Given the description of an element on the screen output the (x, y) to click on. 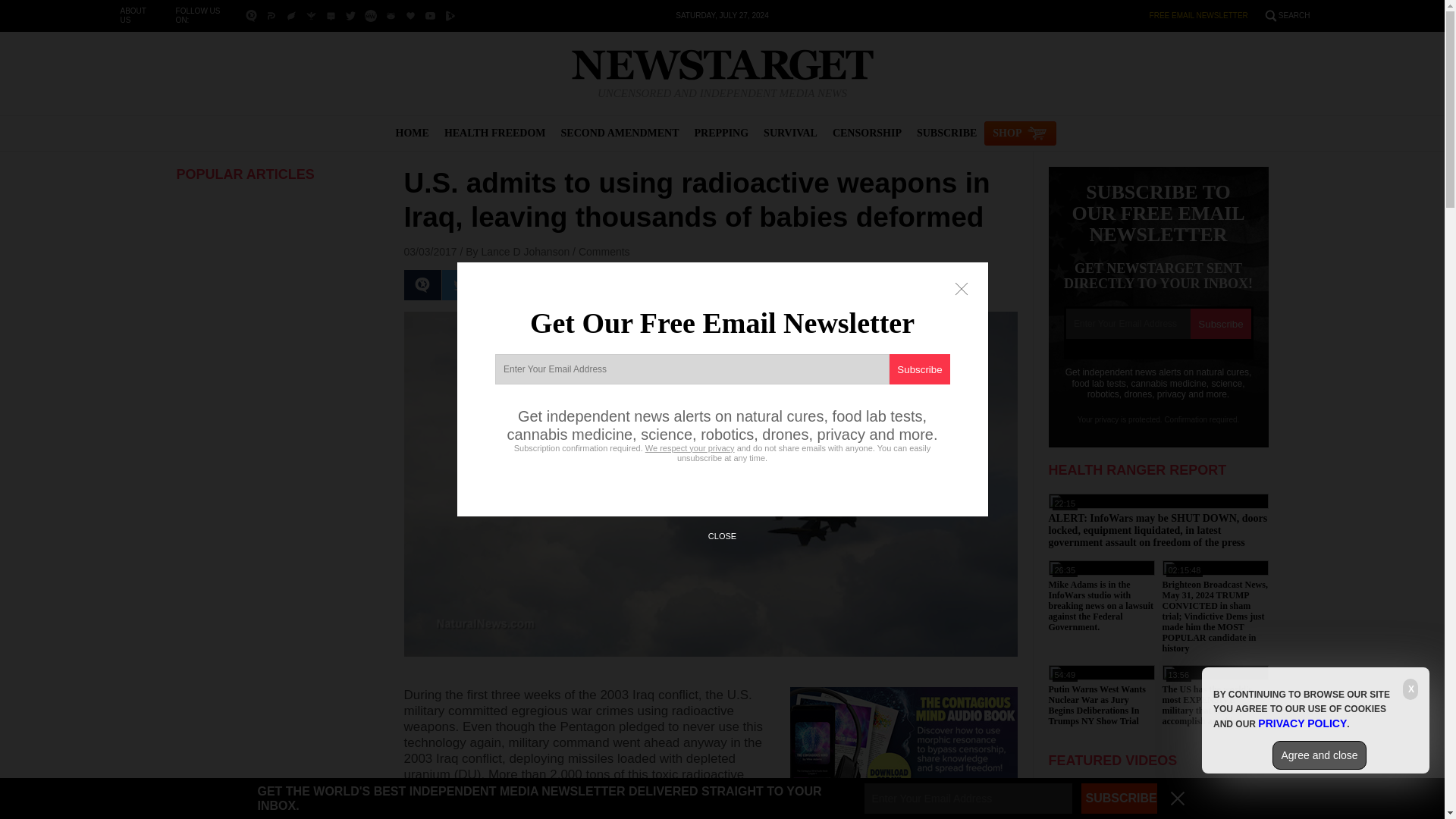
Twitter (350, 15)
FreeTalk (311, 15)
Parler (270, 15)
SEARCH (1293, 15)
Prepping (722, 133)
Search (1293, 15)
About Us (132, 15)
YouTube (430, 15)
Censorship (866, 133)
PureSocial (330, 15)
SECOND AMENDMENT (620, 133)
Health Freedom (494, 133)
Gab (390, 15)
Brighteon.Social (251, 15)
MeWe (370, 15)
